Given the description of an element on the screen output the (x, y) to click on. 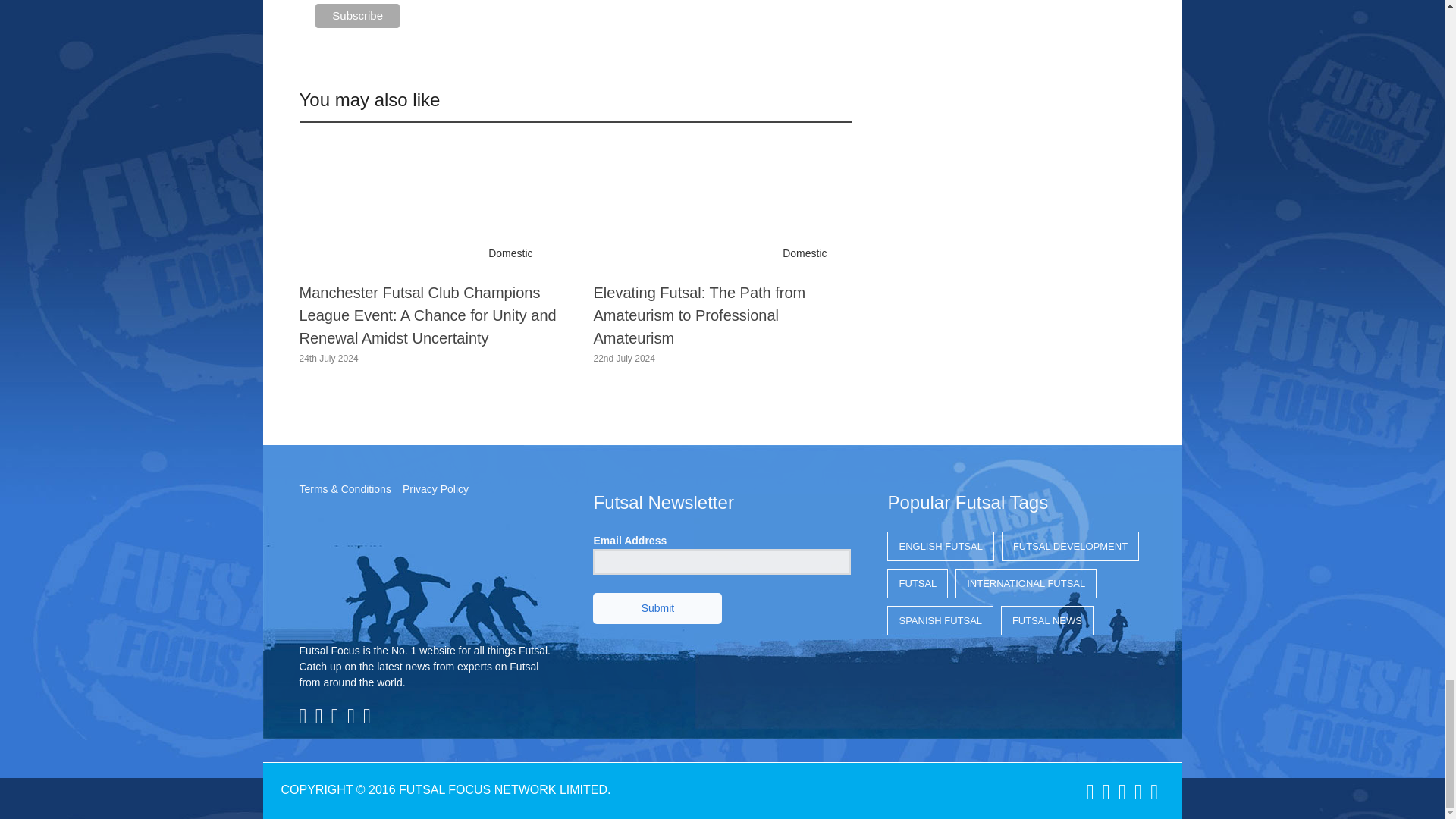
Subscribe (356, 15)
3:47 pm (622, 357)
8:18 pm (328, 357)
